Given the description of an element on the screen output the (x, y) to click on. 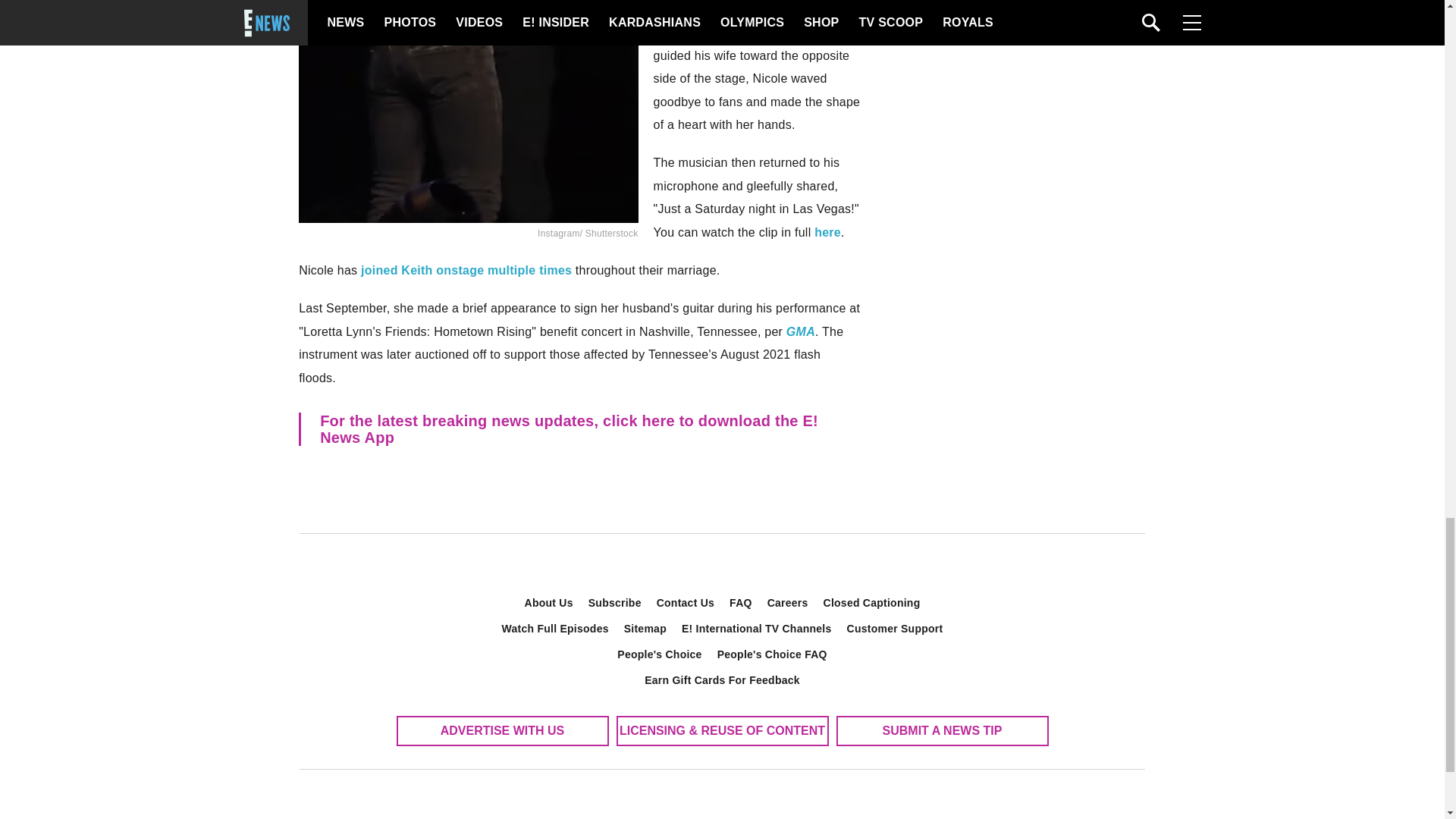
joined Keith onstage multiple times (464, 269)
GMA (800, 331)
here (827, 232)
